Given the description of an element on the screen output the (x, y) to click on. 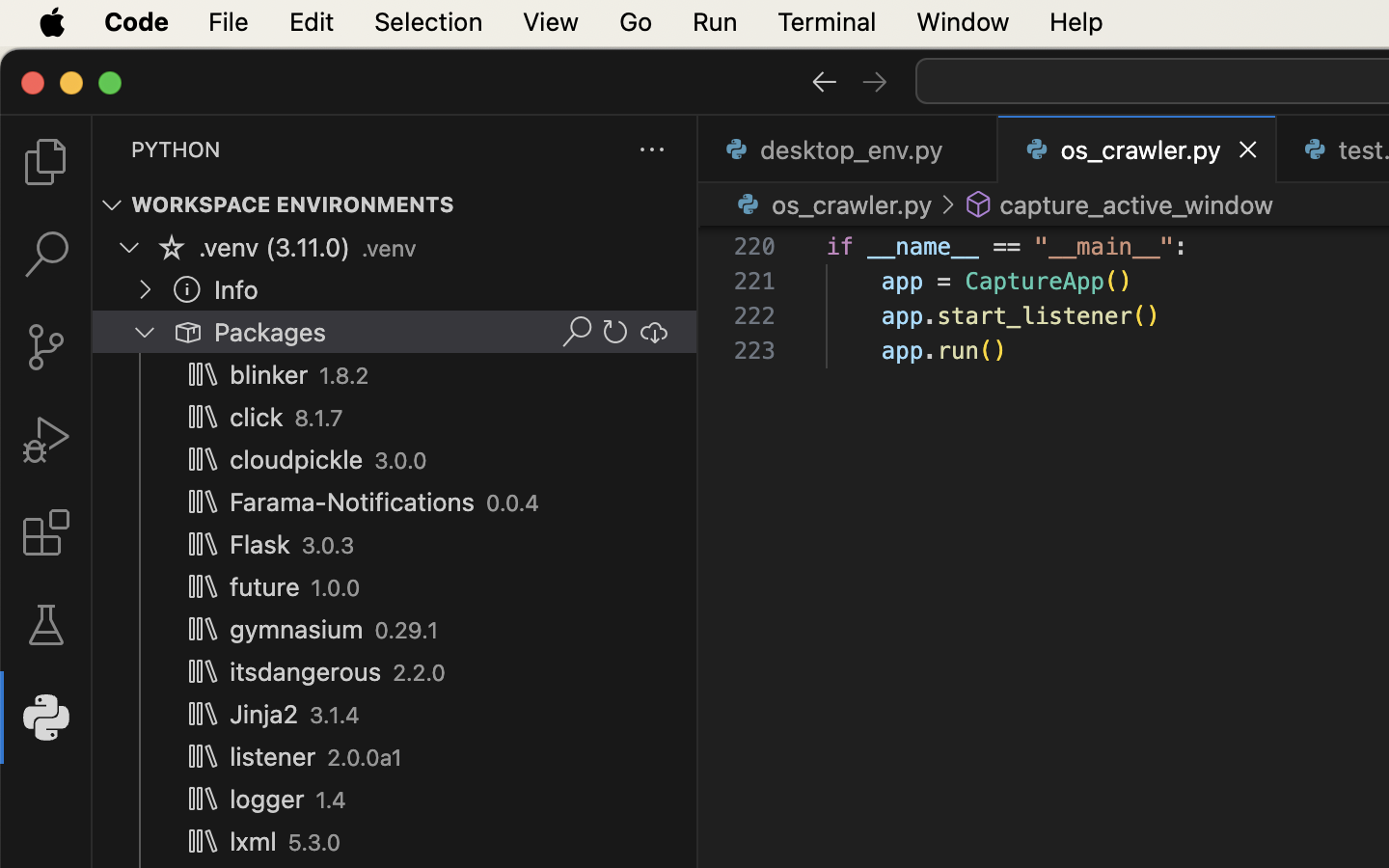
gymnasium Element type: AXStaticText (296, 629)
capture_active_window Element type: AXGroup (1136, 204)
 Element type: AXButton (874, 80)
1.0.0 Element type: AXStaticText (335, 587)
 Element type: AXGroup (46, 624)
